Given the description of an element on the screen output the (x, y) to click on. 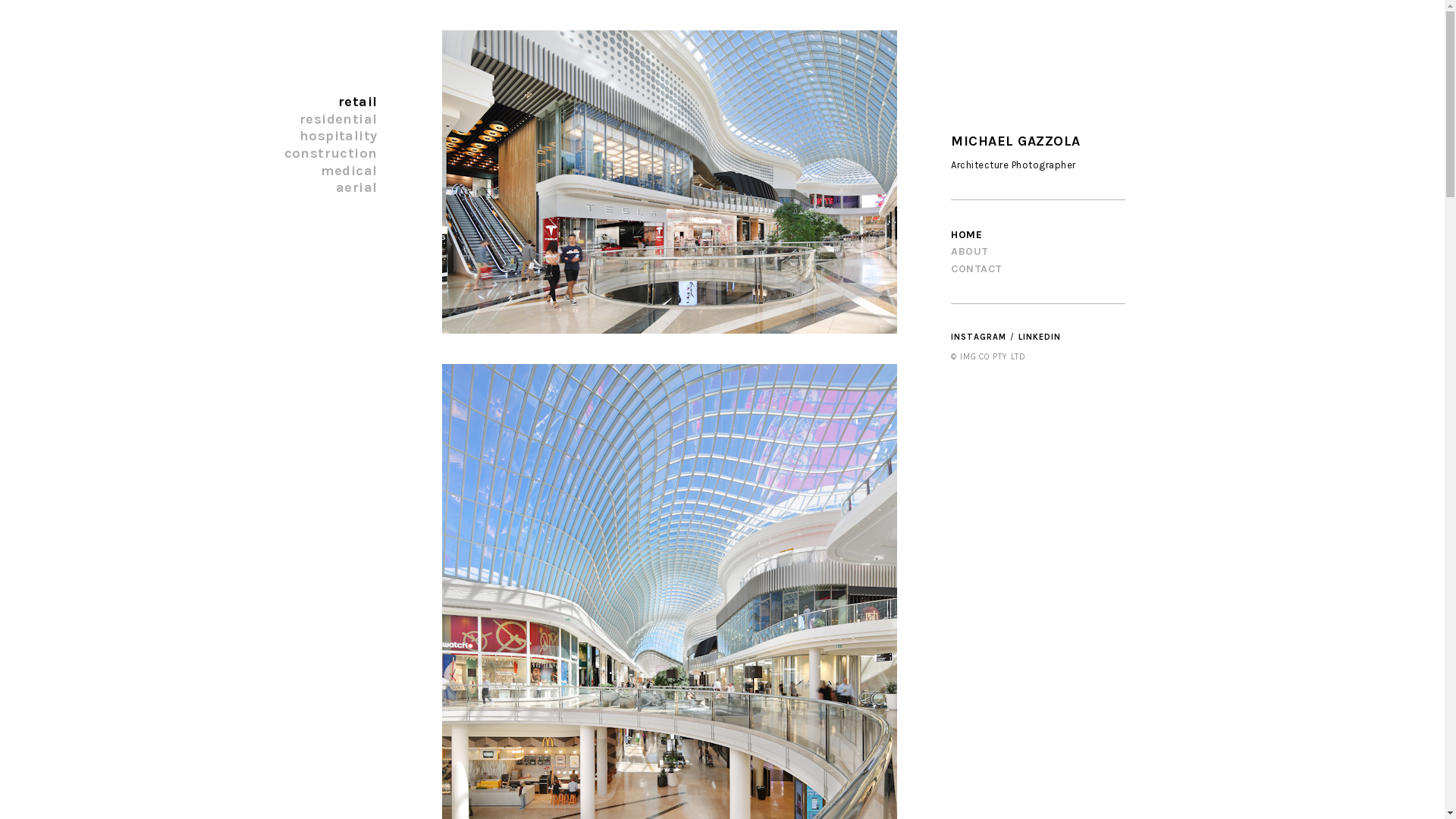
INSTAGRAM Element type: text (978, 337)
construction Element type: text (329, 152)
LINKEDIN Element type: text (1038, 337)
HOME Element type: text (966, 234)
aerial Element type: text (355, 186)
MICHAEL GAZZOLA Element type: text (1015, 140)
ABOUT Element type: text (969, 250)
residential Element type: text (337, 118)
hospitality Element type: text (337, 135)
medical Element type: text (348, 169)
CONTACT Element type: text (976, 268)
